Given the description of an element on the screen output the (x, y) to click on. 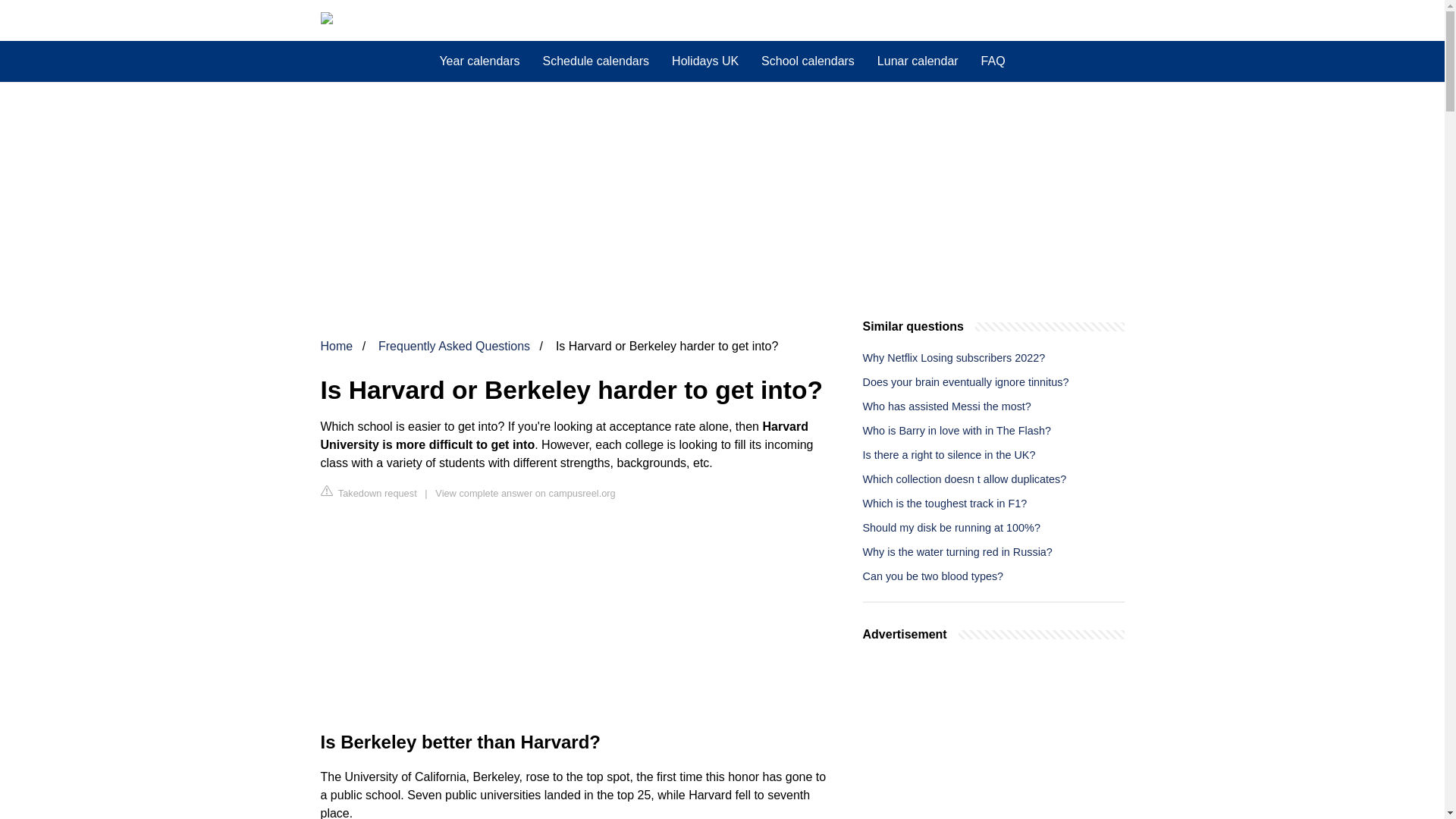
Home (336, 345)
Schedule calendars (596, 60)
Year calendars (479, 60)
FAQ (992, 60)
Takedown request (368, 492)
School calendars (807, 60)
Frequently Asked Questions (453, 345)
Holidays UK (705, 60)
View complete answer on campusreel.org (524, 492)
Lunar calendar (917, 60)
